Given the description of an element on the screen output the (x, y) to click on. 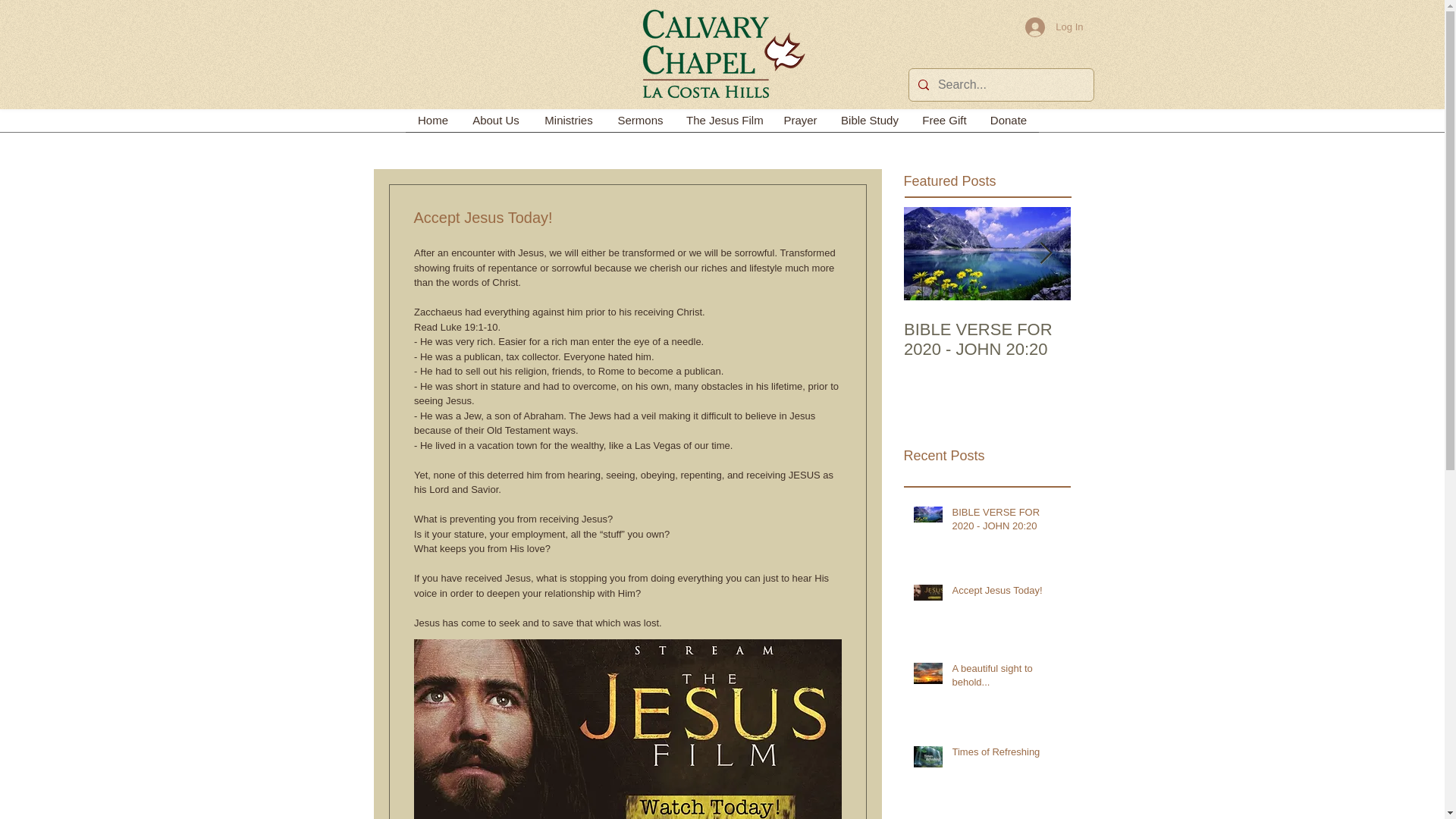
Bible Study (869, 124)
Home (433, 124)
The Jesus Film (723, 124)
About Us (495, 124)
Sermons (640, 124)
Log In (1053, 27)
Prayer (799, 124)
Ministries (568, 124)
